Given the description of an element on the screen output the (x, y) to click on. 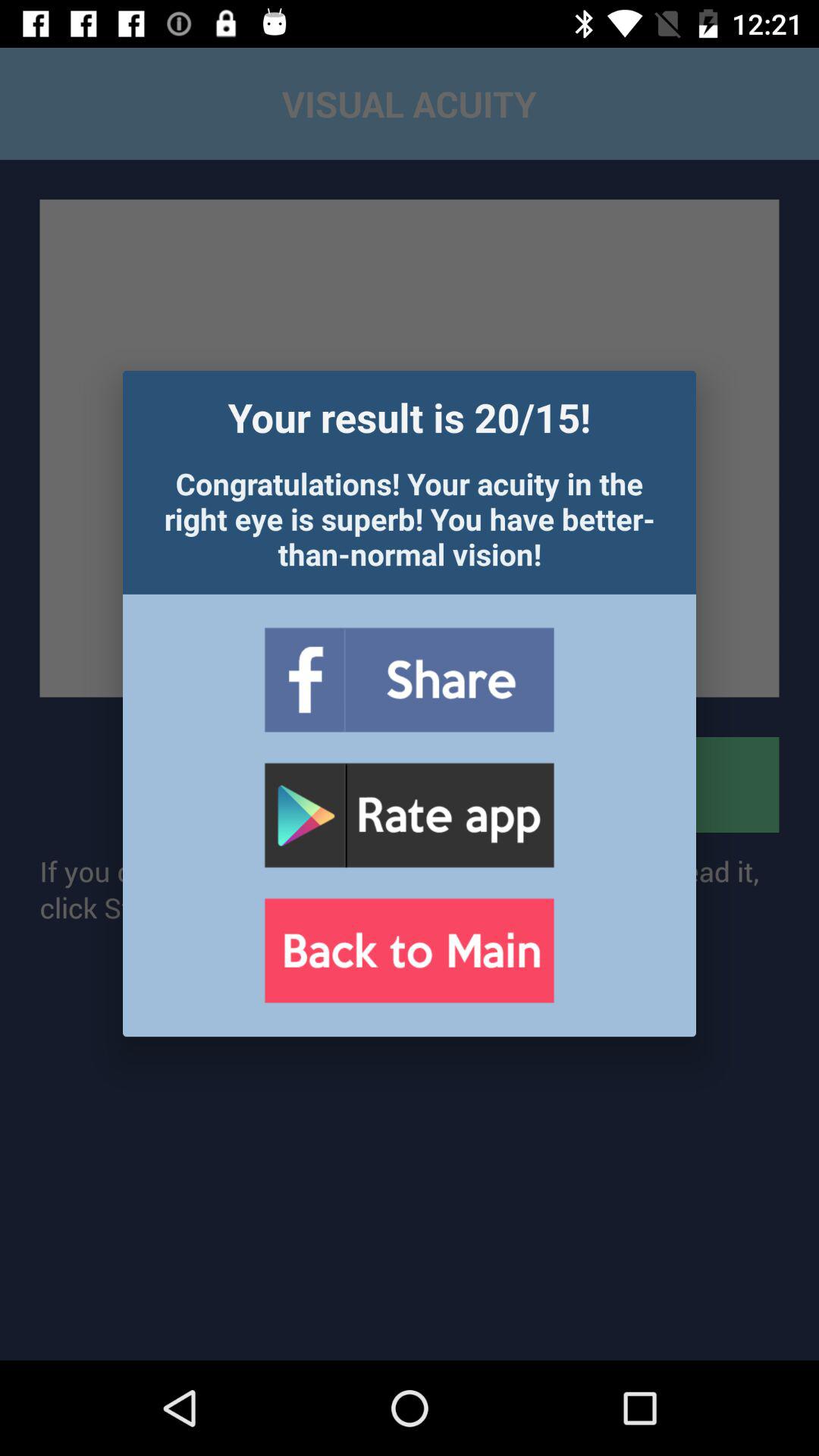
return to home page (408, 950)
